Given the description of an element on the screen output the (x, y) to click on. 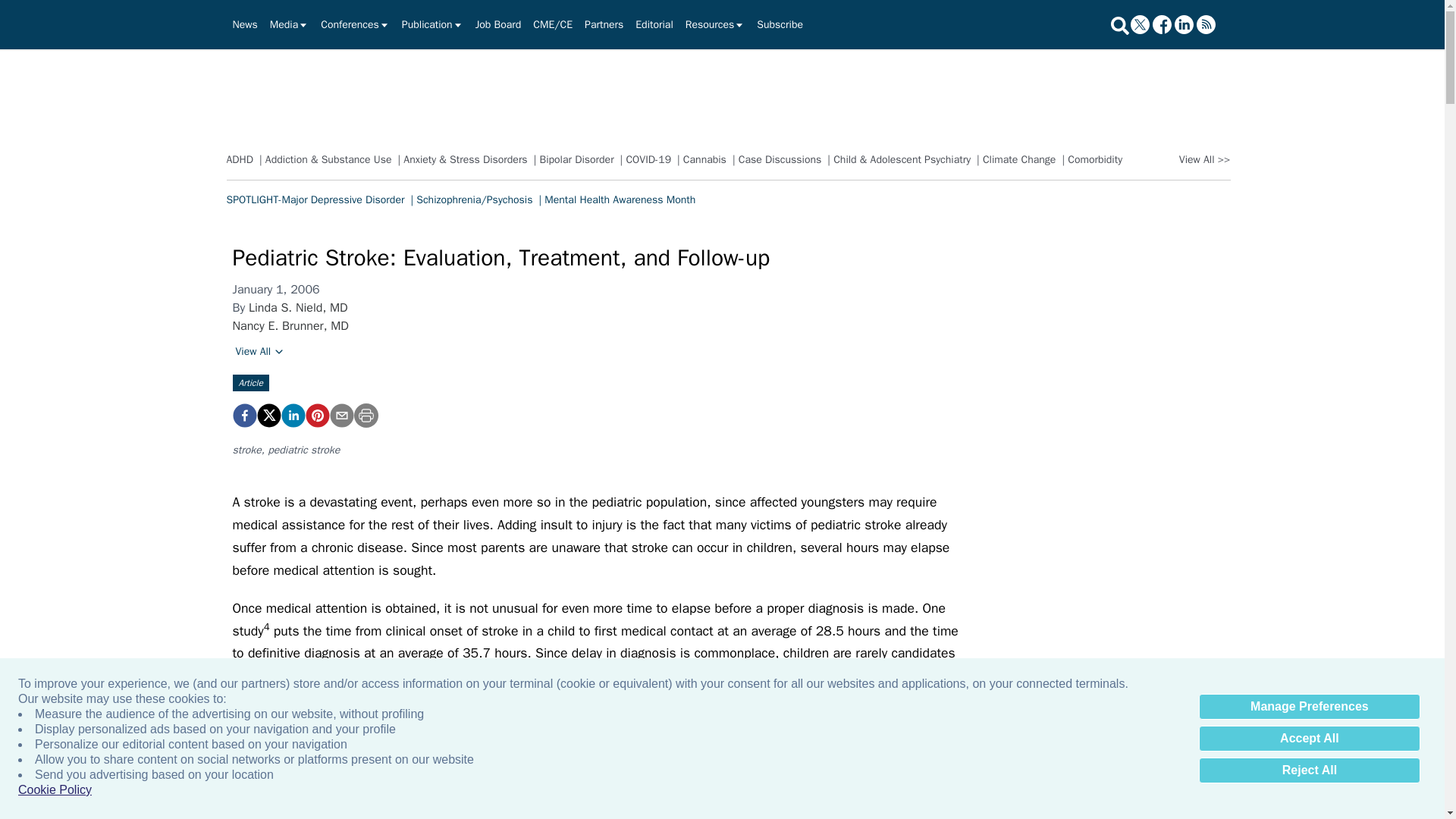
Accept All (1309, 738)
Editorial (653, 23)
Job Board (498, 23)
Subscribe (780, 23)
Manage Preferences (1309, 706)
Reject All (1309, 769)
News (244, 23)
Partners (604, 23)
Pediatric Stroke: Evaluation, Treatment, and Follow-up (316, 415)
Pediatric Stroke: Evaluation, Treatment, and Follow-up (243, 415)
Cookie Policy (54, 789)
